Given the description of an element on the screen output the (x, y) to click on. 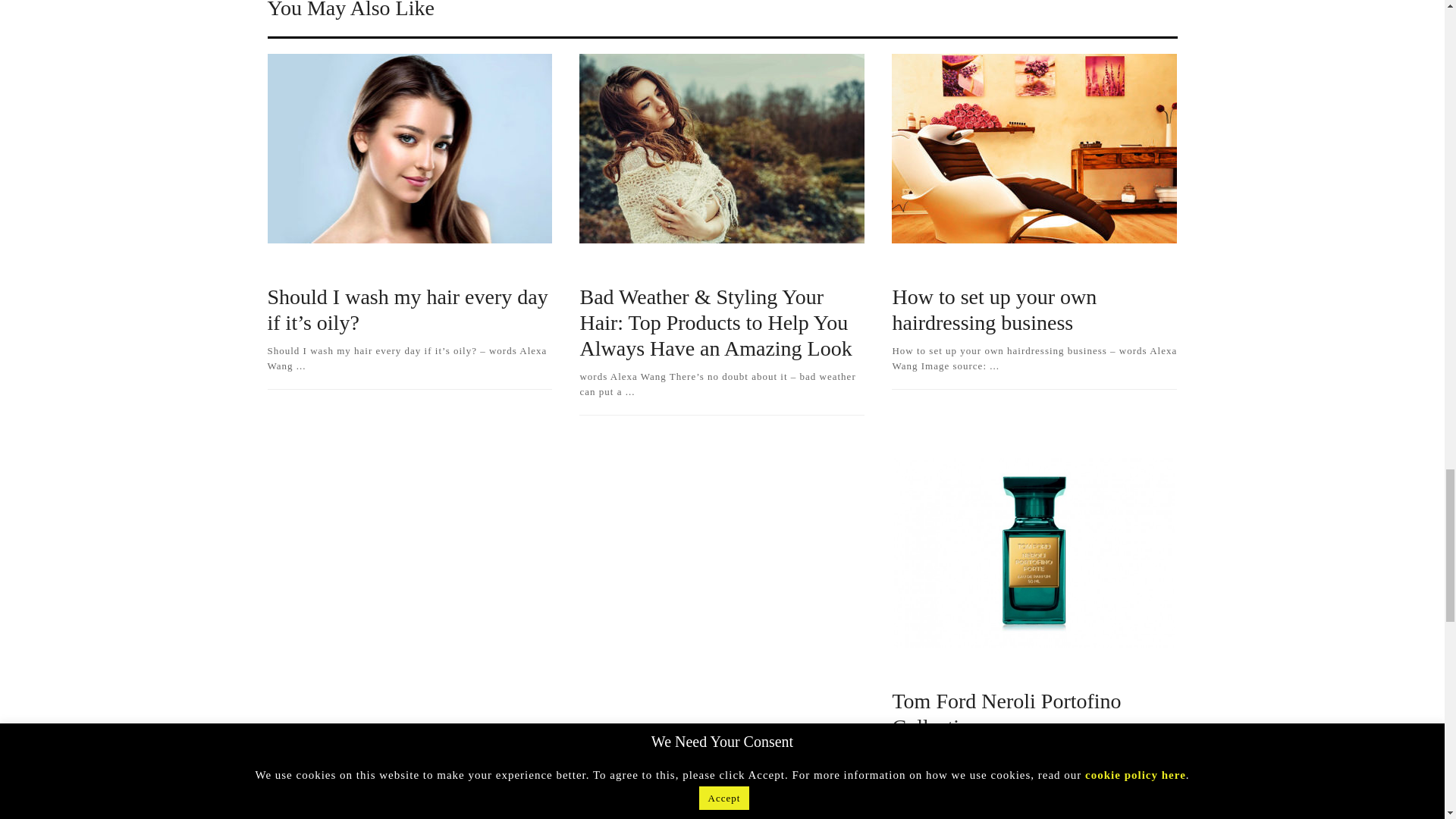
View all posts in 7 (288, 266)
View all posts in 1600 (984, 670)
View all posts in 1600 (360, 266)
View all posts in 1600 (984, 266)
View all posts in 7 (913, 670)
View all posts in 1600 (673, 266)
View all posts in 7 (913, 266)
View all posts in 7 (601, 266)
